Given the description of an element on the screen output the (x, y) to click on. 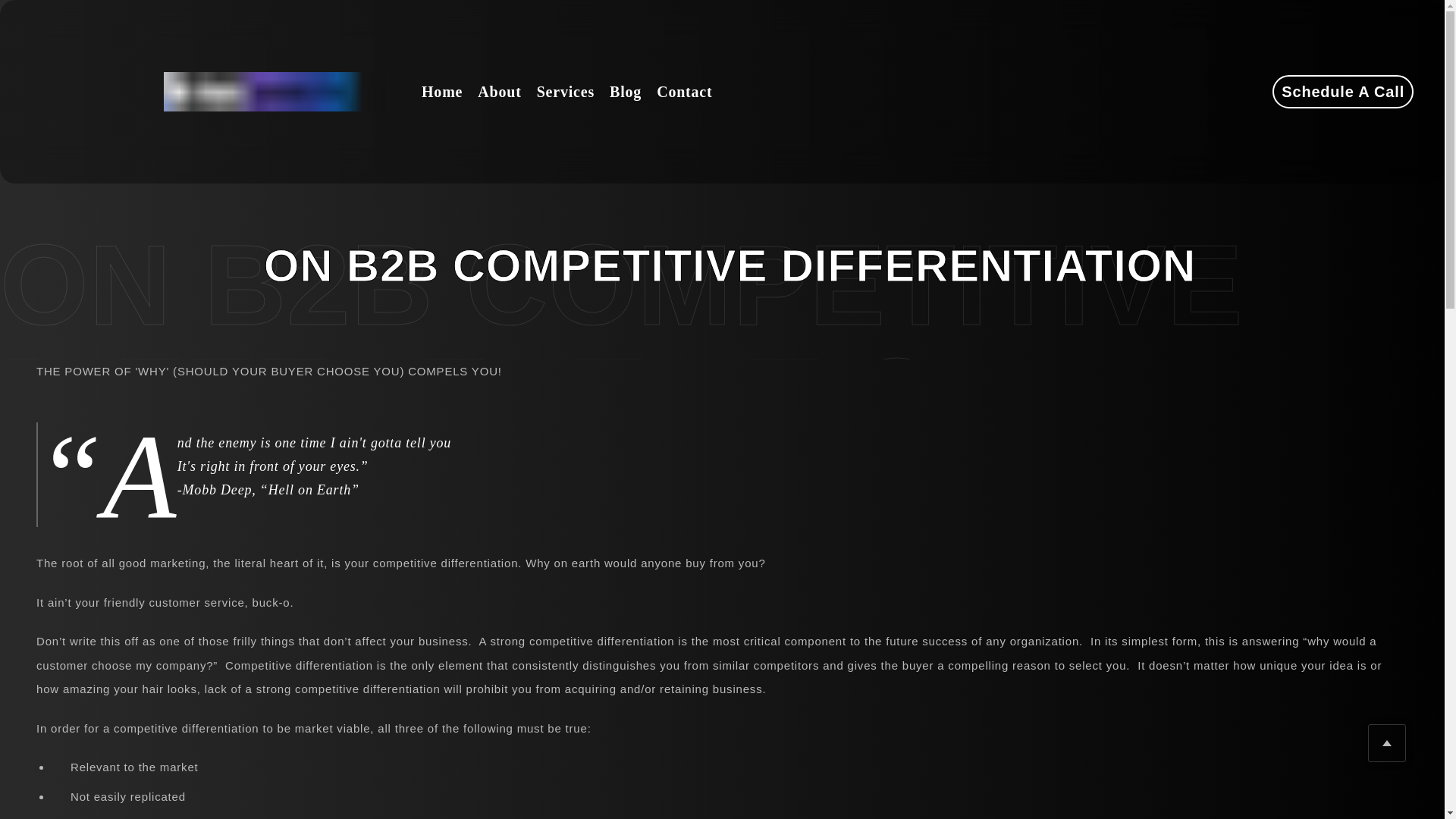
Services (565, 91)
Schedule A Call (1342, 91)
Home (442, 91)
TWOGHOSTS (277, 91)
Blog (626, 91)
About (499, 91)
Contact (683, 91)
